Given the description of an element on the screen output the (x, y) to click on. 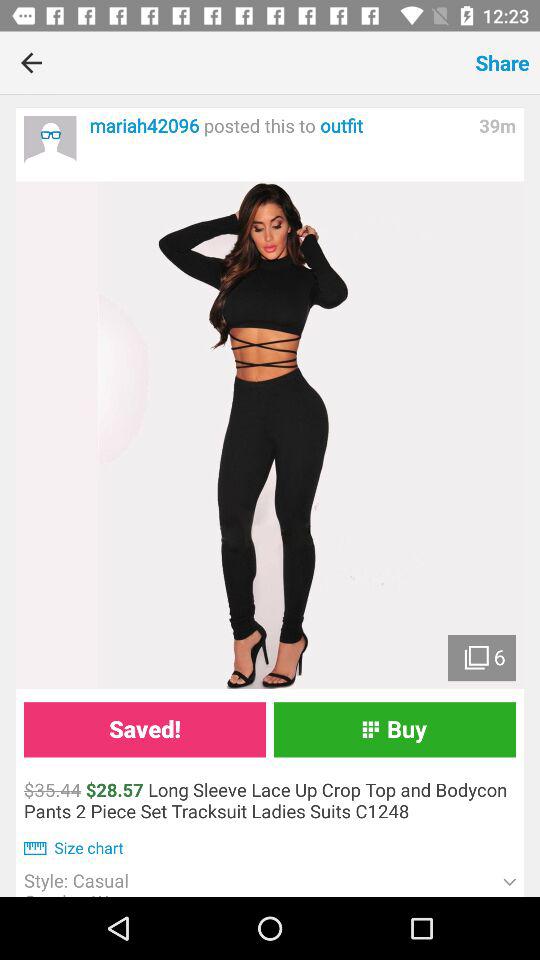
select the profile image icon on the web page (50, 142)
click the button on the bottom right corner of the web page (509, 882)
click on the images icon (475, 658)
select the image on the web page (269, 435)
click on the share button to the top right corner (502, 62)
